Given the description of an element on the screen output the (x, y) to click on. 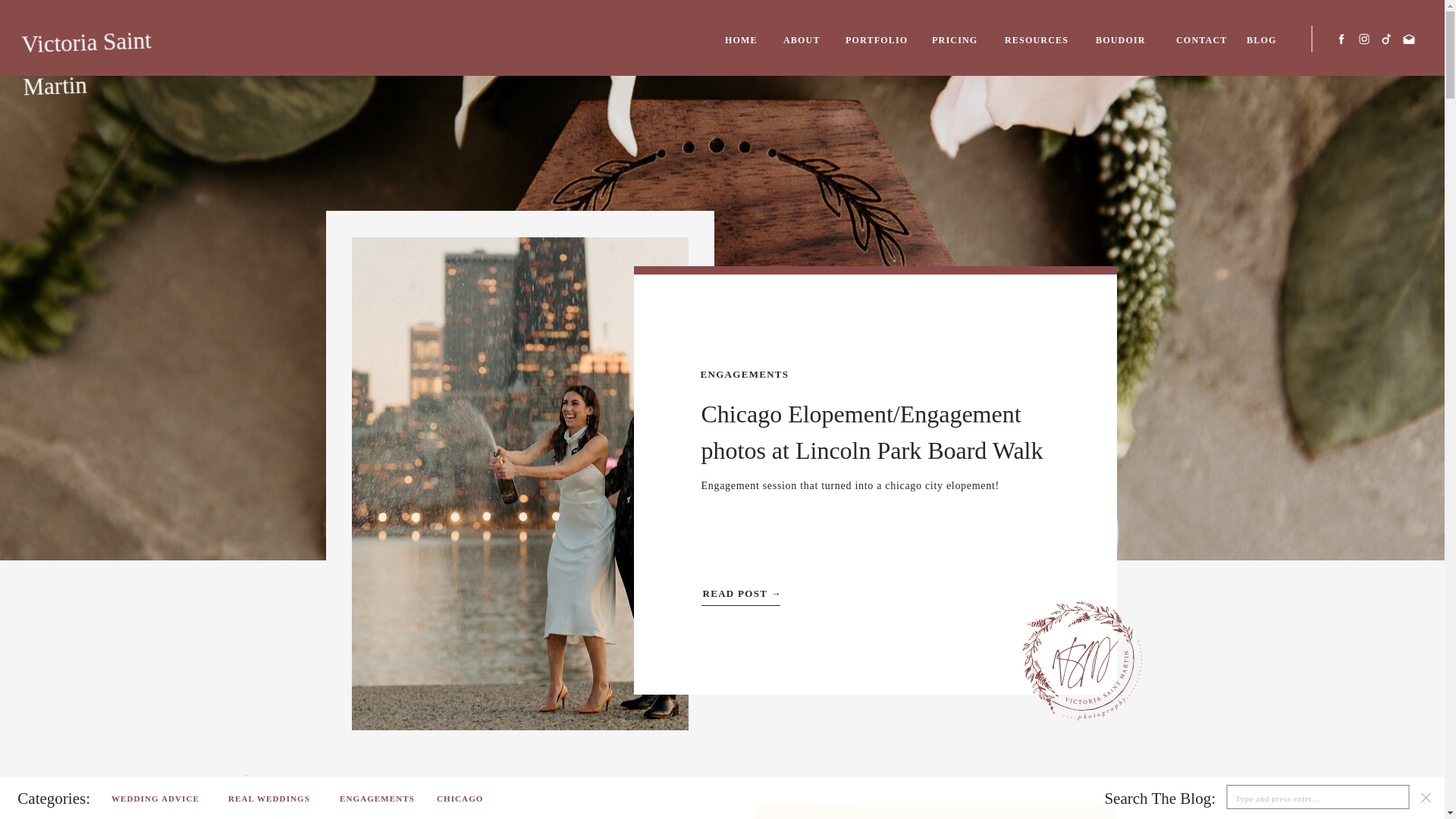
PORTFOLIO (878, 40)
BLOG (1262, 40)
REAL WEDDINGS (277, 796)
ABOUT (803, 40)
CONTACT (1200, 40)
HOME (743, 40)
ENGAGEMENTS (744, 374)
Victoria Saint Martin (95, 38)
ENGAGEMENTS (381, 796)
BOUDOIR (1125, 40)
PRICING (957, 40)
Couples Shoot at Color Factory Chicago Museum (935, 812)
RESOURCES (1039, 40)
CHICAGO (466, 796)
WEDDING ADVICE (163, 796)
